Given the description of an element on the screen output the (x, y) to click on. 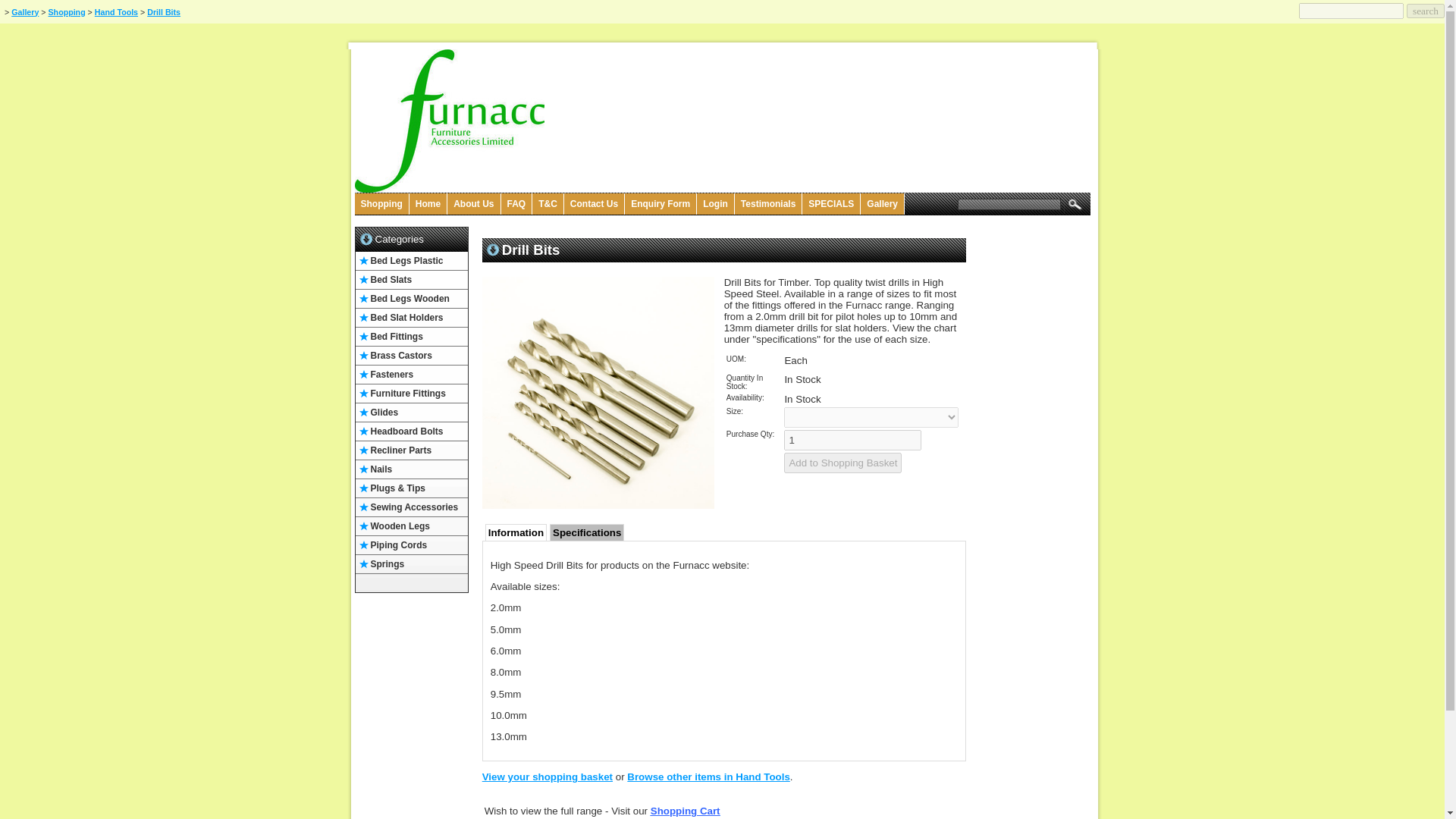
Furniture Fittings (411, 393)
Bed Legs Wooden (411, 298)
Testimonials (768, 203)
Bed Legs Plastic (411, 261)
SPECIALS (831, 203)
Shopping (382, 203)
Brass Castors (411, 355)
Gallery (25, 11)
Bed Fittings (411, 336)
Enquiry Form (660, 203)
1 (852, 439)
FAQ (516, 203)
Shopping (66, 11)
Fasteners (411, 374)
Gallery (882, 203)
